Given the description of an element on the screen output the (x, y) to click on. 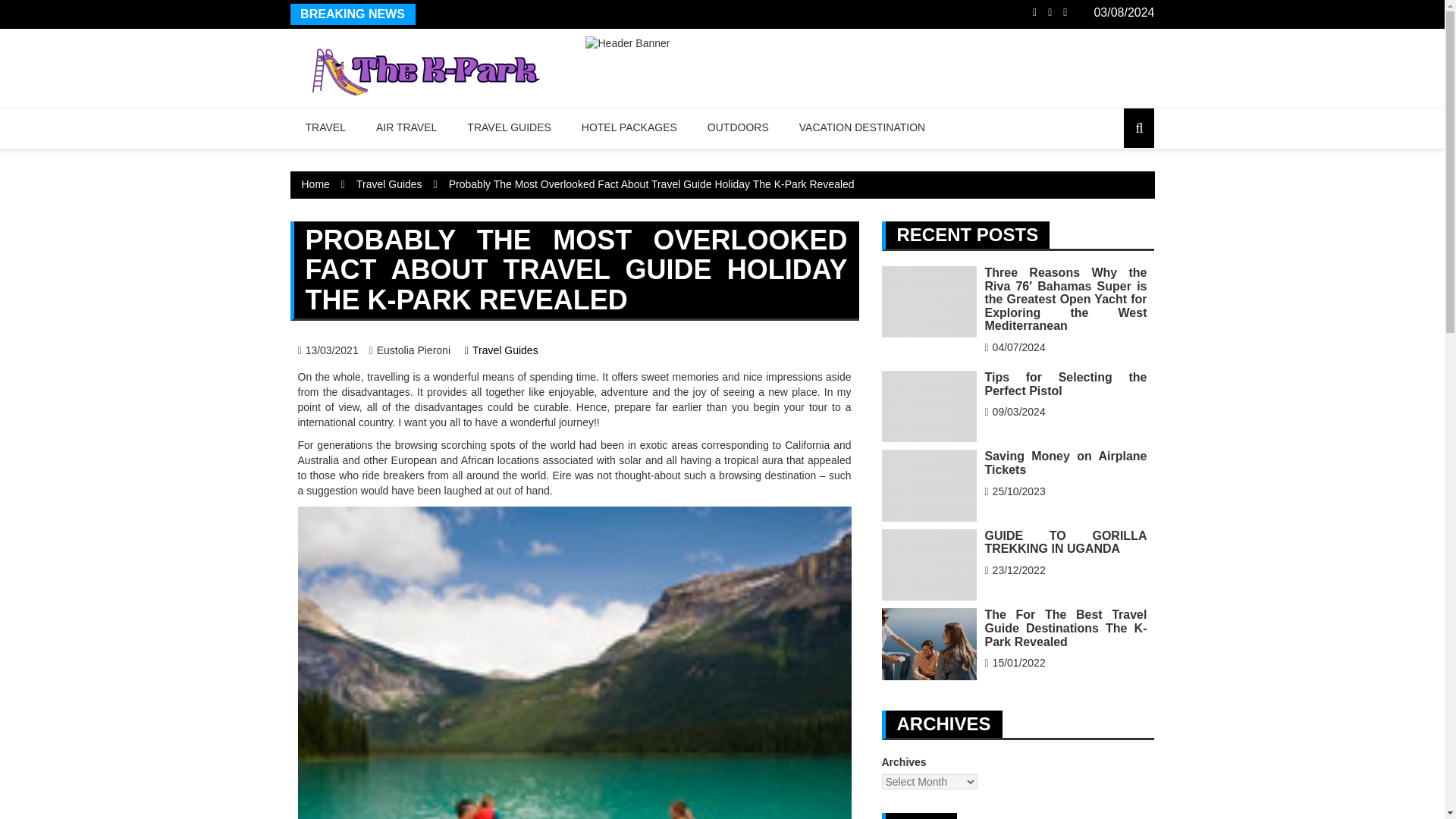
HOTEL PACKAGES (629, 128)
Tips for Selecting the Perfect Pistol (1065, 384)
Saving Money on Airplane Tickets (928, 484)
Tips for Selecting the Perfect Pistol (928, 406)
VACATION DESTINATION (862, 128)
OUTDOORS (738, 128)
Travel Guides (389, 184)
Eustolia Pieroni (409, 349)
TRAVEL GUIDES (508, 128)
